Given the description of an element on the screen output the (x, y) to click on. 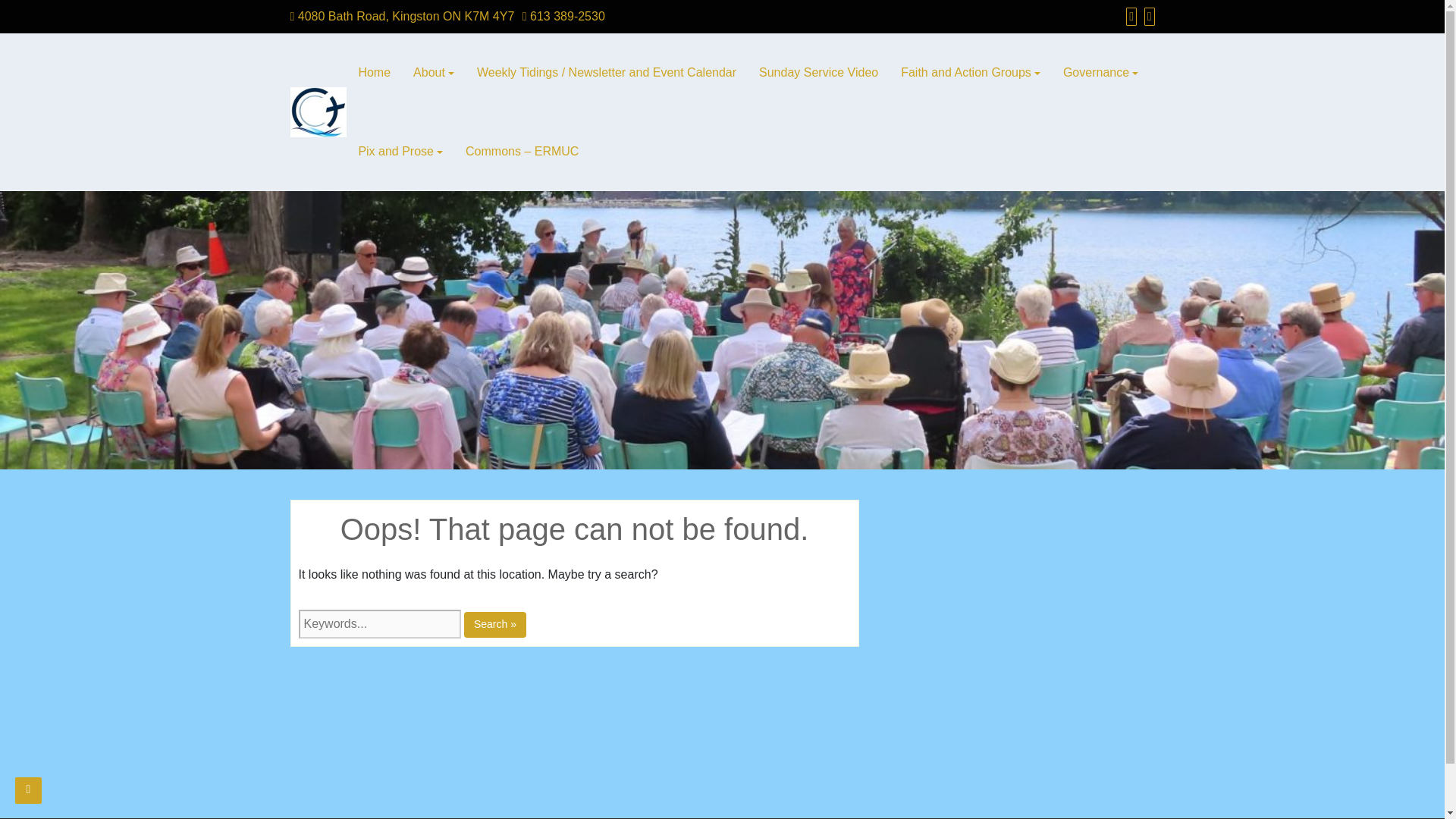
Faith and Action Groups (970, 72)
Pix and Prose (400, 151)
Governance (1100, 72)
Sunday Service Video (818, 72)
613 389-2530 (563, 15)
